Given the description of an element on the screen output the (x, y) to click on. 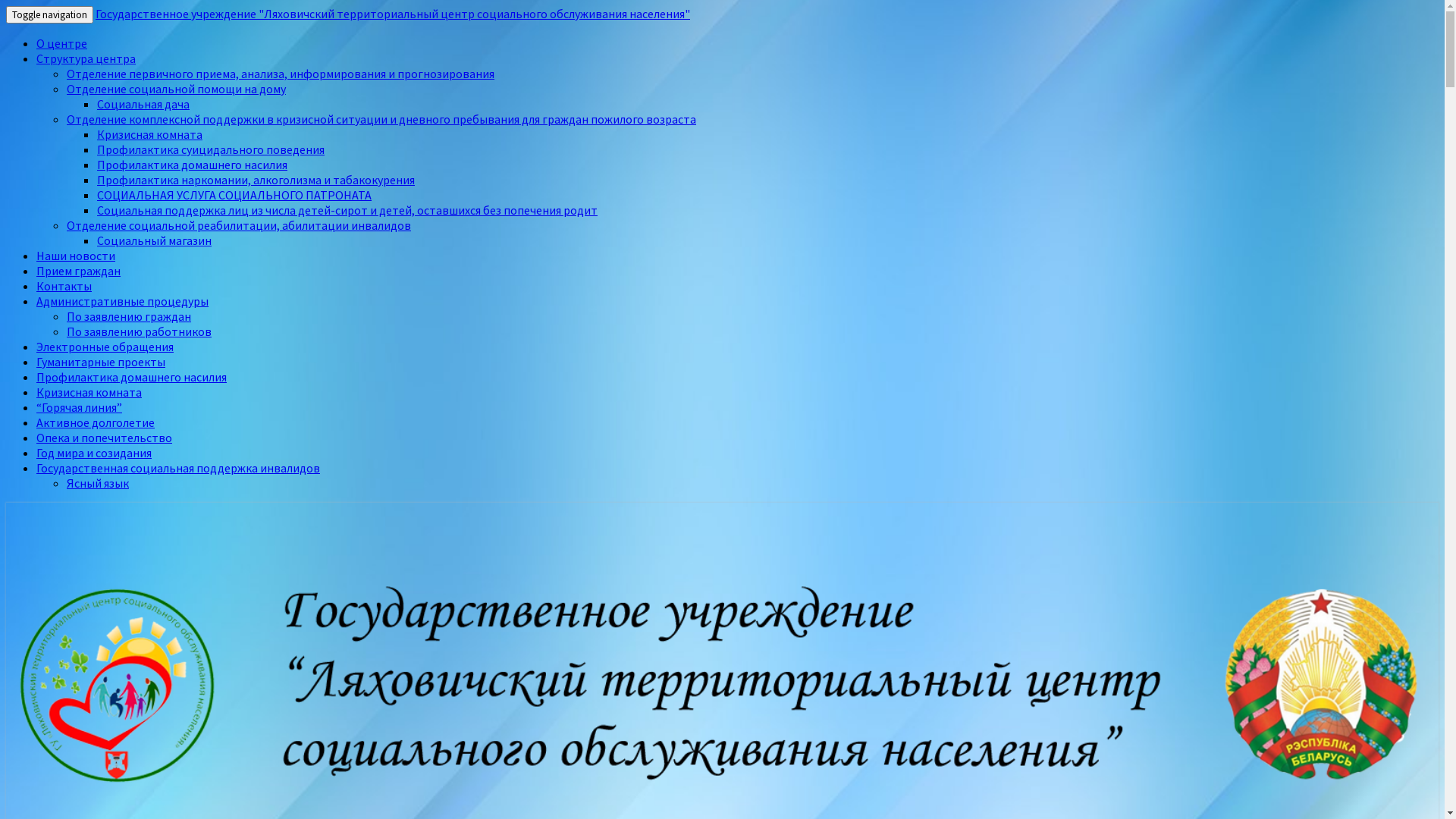
Toggle navigation Element type: text (49, 14)
